Given the description of an element on the screen output the (x, y) to click on. 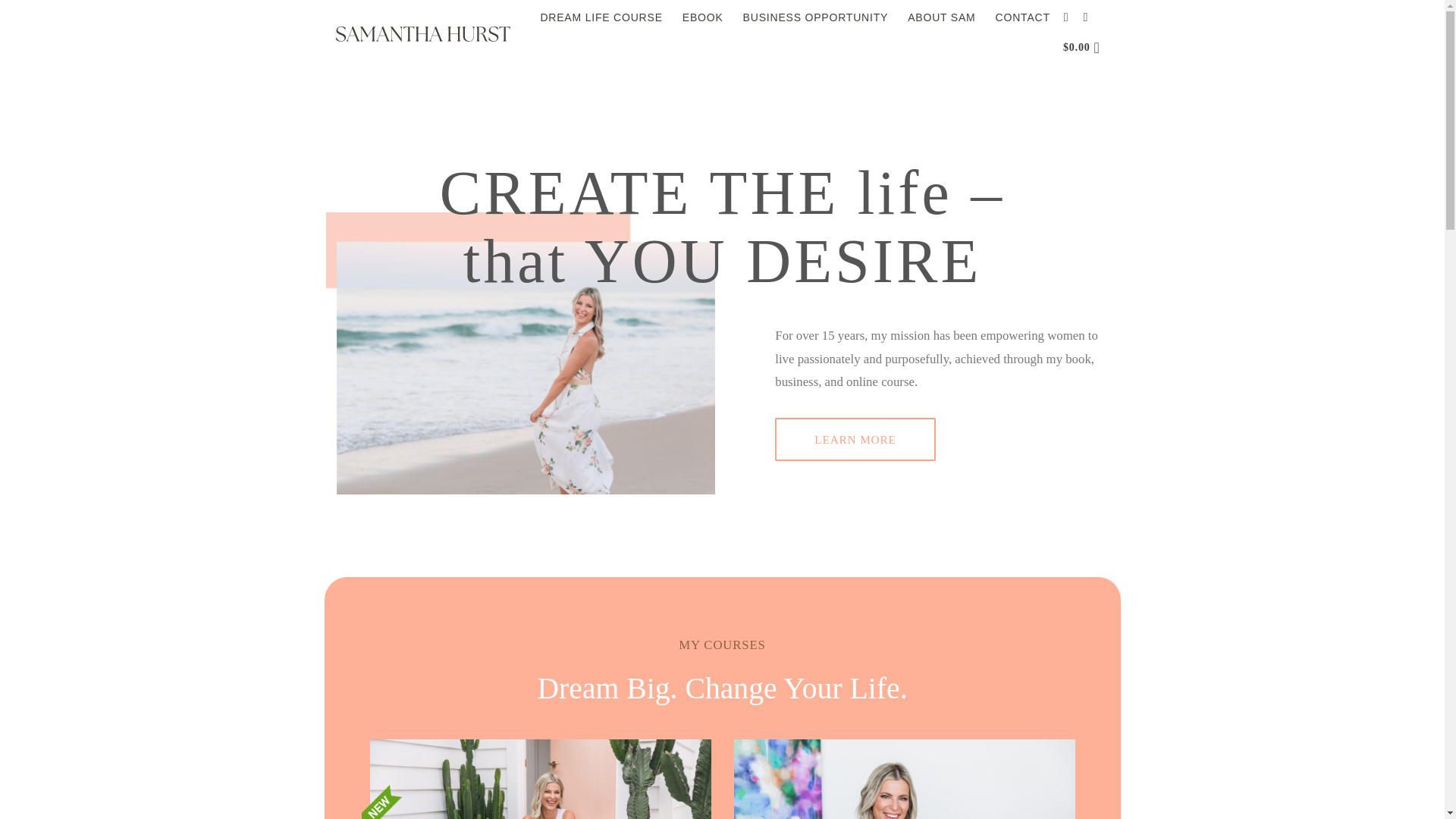
DREAM LIFE COURSE (601, 17)
CONTACT (1022, 17)
EBOOK (702, 17)
Follow on Instagram (1069, 16)
BUSINESS OPPORTUNITY (815, 17)
ABOUT SAM (941, 17)
Cart (1085, 47)
LEARN MORE (854, 439)
